Given the description of an element on the screen output the (x, y) to click on. 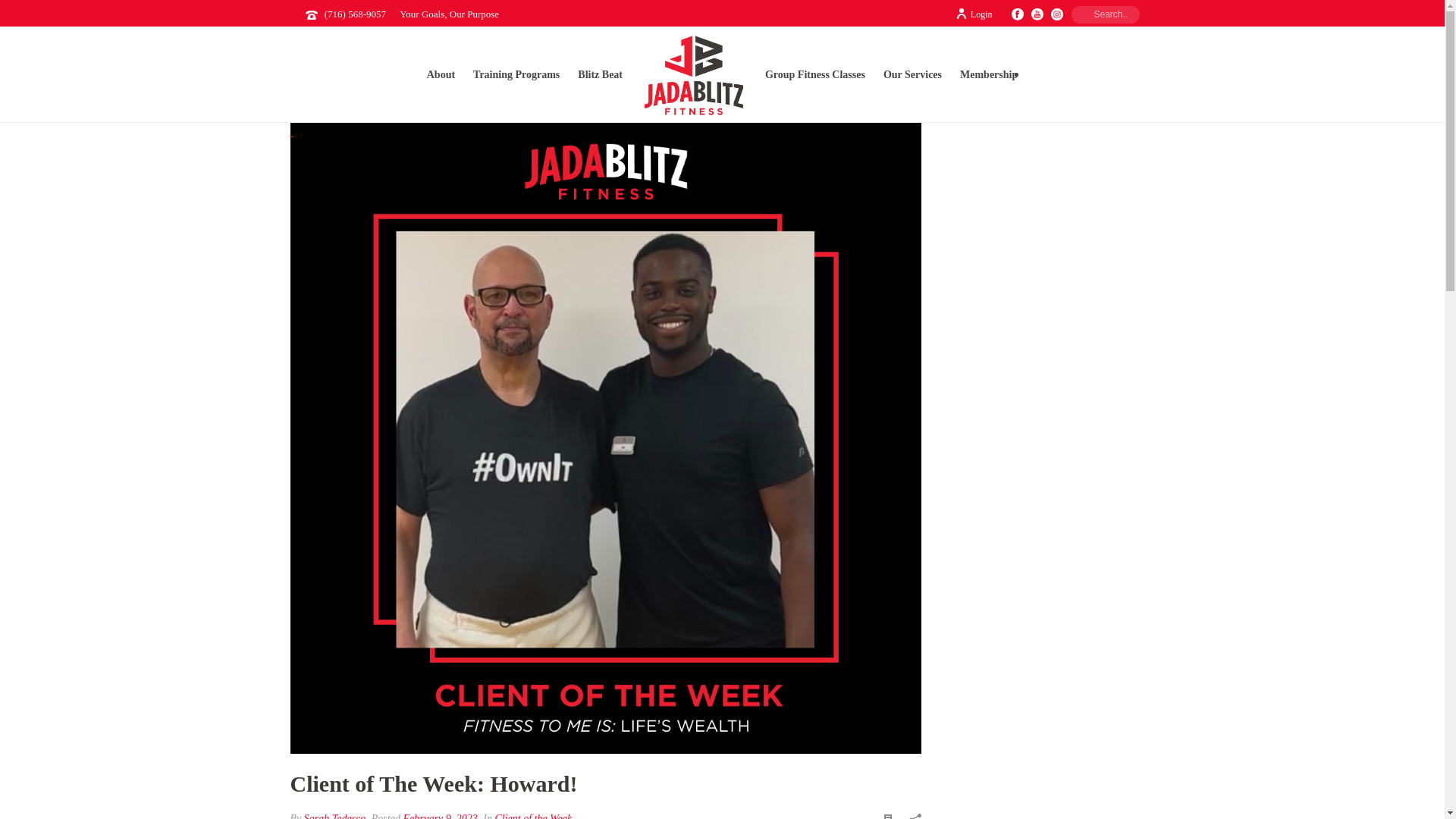
Login (973, 14)
Print (887, 814)
Group Fitness Classes (814, 74)
Posts by Sarah Tedesco (335, 816)
Membership (988, 74)
Our Services (912, 74)
Group Fitness Classes (814, 74)
Training Programs (516, 74)
Training Programs (516, 74)
Blitz Beat (600, 74)
Blitz Beat (600, 74)
Membership (988, 74)
Our Services (912, 74)
Jada Blitz Fitness (693, 75)
